Given the description of an element on the screen output the (x, y) to click on. 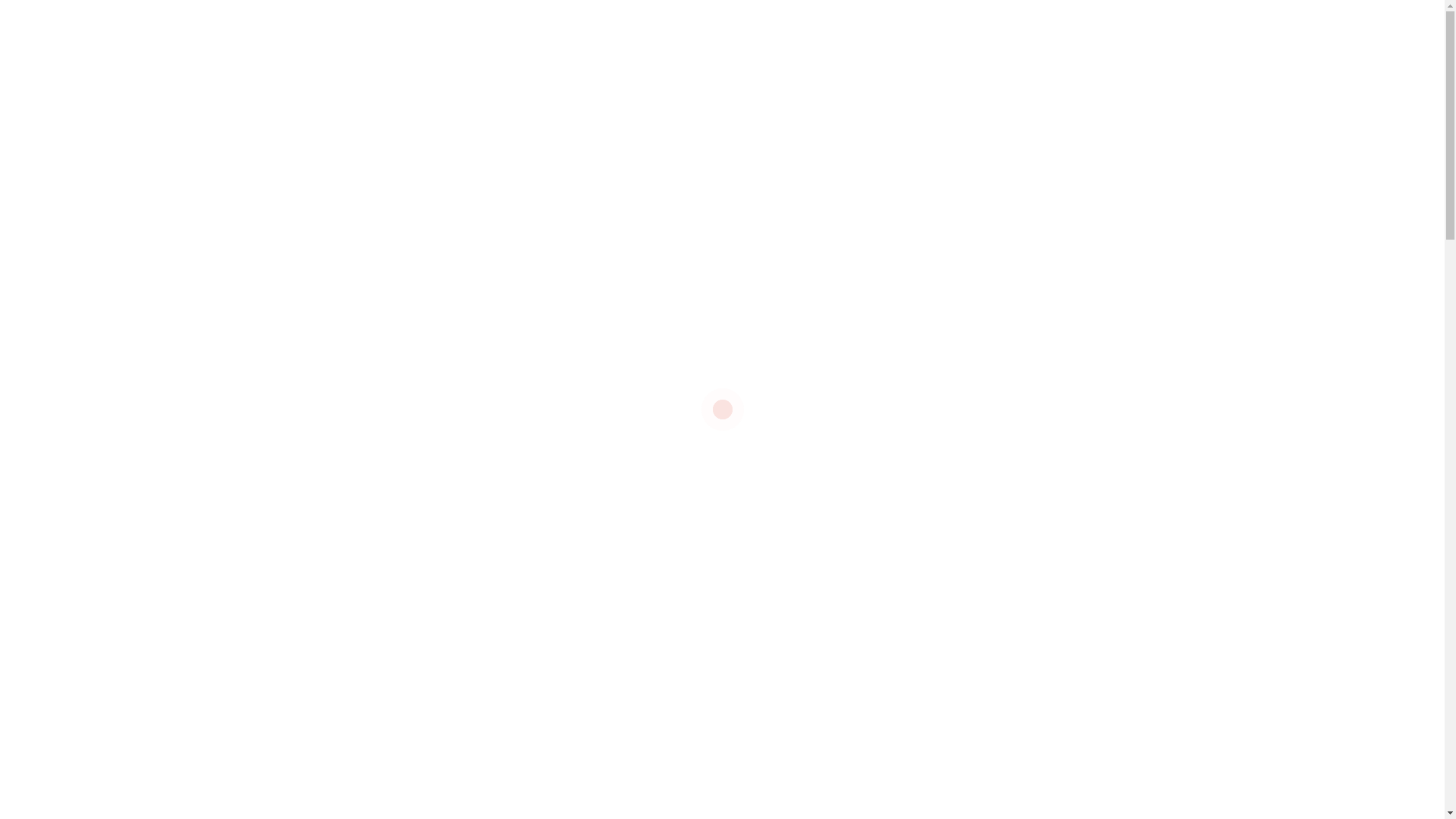
Samenwerking Element type: text (922, 471)
Antwerpen Element type: text (1068, 405)
FAQ Element type: text (911, 17)
vacatures Element type: text (367, 652)
Save the date! Element type: text (1024, 781)
Hond Element type: text (1009, 405)
Blog Element type: text (730, 17)
BrulAAP Element type: text (1107, 634)
Happy Pet Challenge Element type: text (992, 17)
steun Element type: text (964, 405)
Beestig Wandelen Element type: text (1062, 601)
Aallez Element type: text (1009, 373)
Word vrijwilliger Element type: text (919, 94)
workshop Element type: text (984, 438)
Meer over cookies Element type: text (1210, 729)
jaarverslag Element type: text (913, 438)
Stage Element type: text (959, 634)
Verlatingsangst Element type: text (1030, 634)
Burgerbegroting Element type: text (926, 568)
Voor wie? Element type: text (819, 94)
Dementie Element type: text (976, 536)
aap vzw Element type: text (906, 373)
Testimonial Element type: text (1006, 471)
Oppashuisdier Element type: text (1055, 536)
Steun ons Element type: text (1086, 95)
Vrijwilligers Element type: text (913, 601)
Over ons Element type: text (572, 17)
plusbaasje Element type: text (1081, 471)
Bedankt Element type: text (978, 601)
Podcast Element type: text (778, 17)
Aanvaarden Element type: text (1286, 767)
Opleiding Element type: text (909, 536)
Nieuws Element type: text (667, 180)
Mechelen Element type: text (1067, 503)
In Mechelen kan je beestig wandelen! Element type: hover (589, 782)
Woonzorgcentrum Element type: text (1032, 568)
Podcast Element type: text (905, 634)
Projecten Element type: text (740, 94)
dierenbeleid Element type: text (917, 666)
Home Element type: text (623, 180)
Aahzo Element type: text (960, 373)
Agenda Element type: text (684, 17)
music for life Element type: text (916, 503)
Contact Element type: text (1085, 17)
Aamaai Element type: text (1062, 373)
Kat Element type: text (1036, 438)
Wandelingen Element type: text (850, 17)
AAI-team Element type: text (909, 405)
Nieuws Element type: text (630, 17)
Plusbaasjes Element type: text (996, 503)
Help AAP aan 1.000 euro Element type: hover (565, 782)
